Given the description of an element on the screen output the (x, y) to click on. 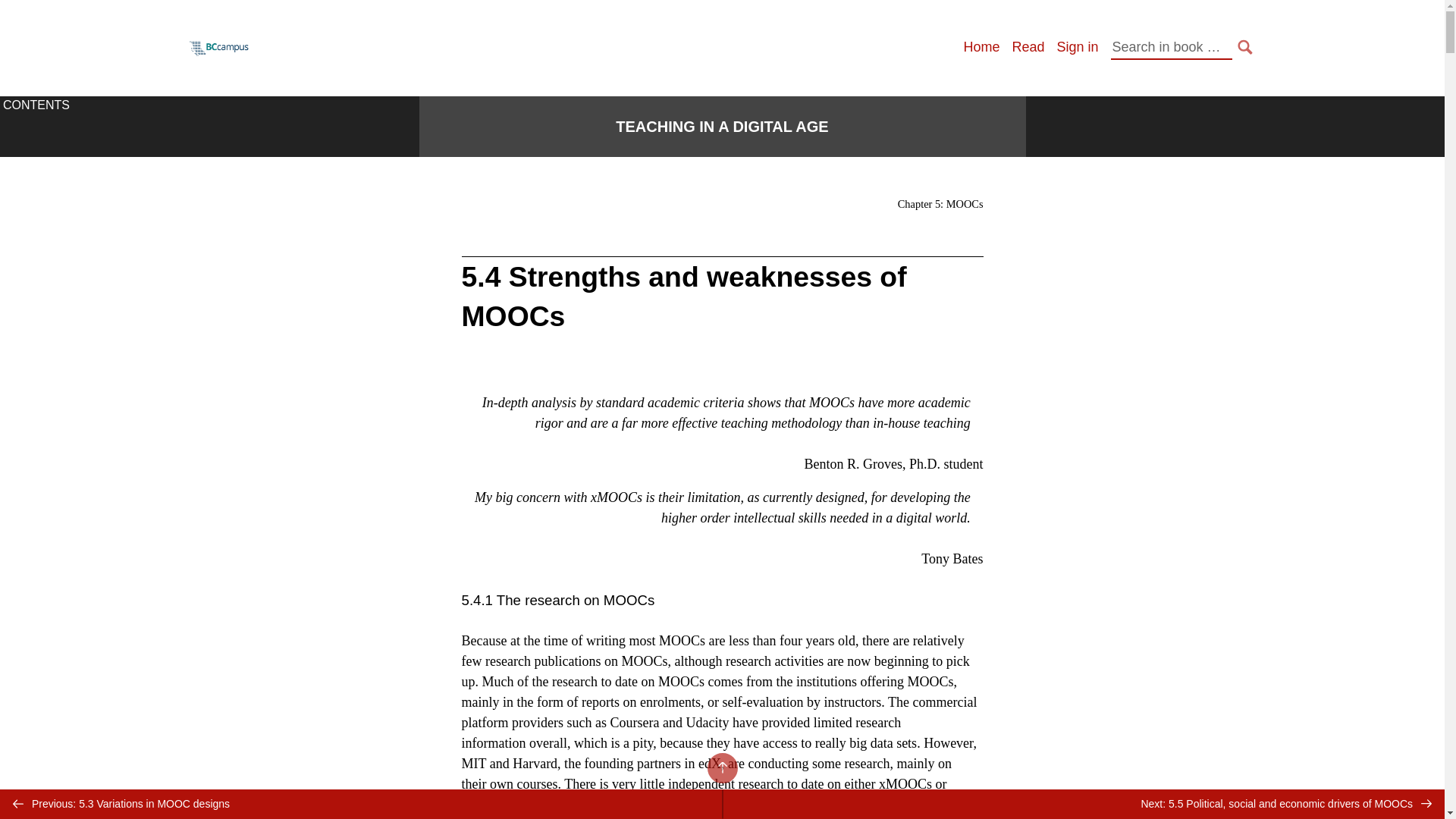
Home (980, 46)
Read (1027, 46)
Sign in (1077, 46)
TEACHING IN A DIGITAL AGE (721, 126)
Previous: 5.3 Variations in MOOC designs (361, 804)
